Given the description of an element on the screen output the (x, y) to click on. 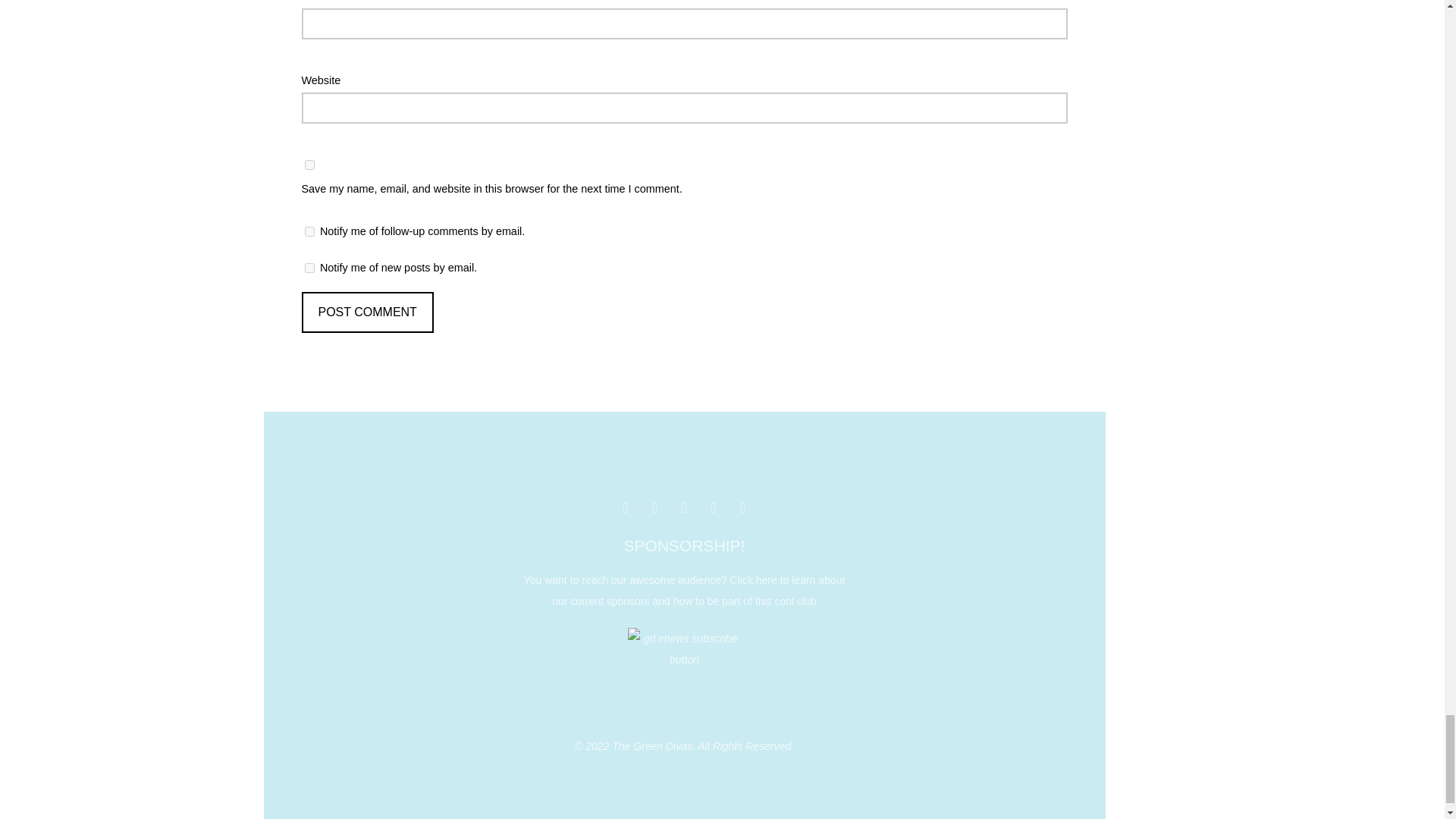
subscribe (309, 231)
subscribe (309, 267)
yes (309, 164)
Post Comment (367, 311)
